Given the description of an element on the screen output the (x, y) to click on. 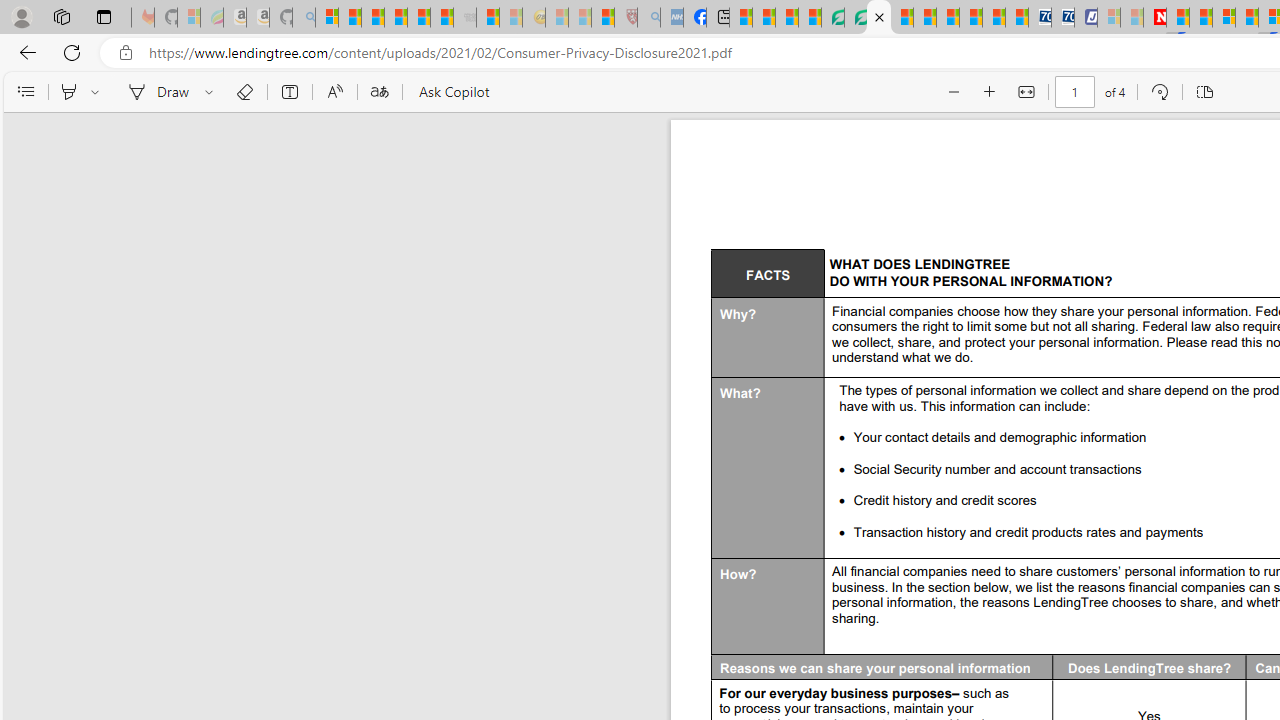
Microsoft account | Privacy - Sleeping (1108, 17)
New Report Confirms 2023 Was Record Hot | Watch (419, 17)
MSNBC - MSN (740, 17)
Zoom out (Ctrl+Minus key) (952, 92)
